Given the description of an element on the screen output the (x, y) to click on. 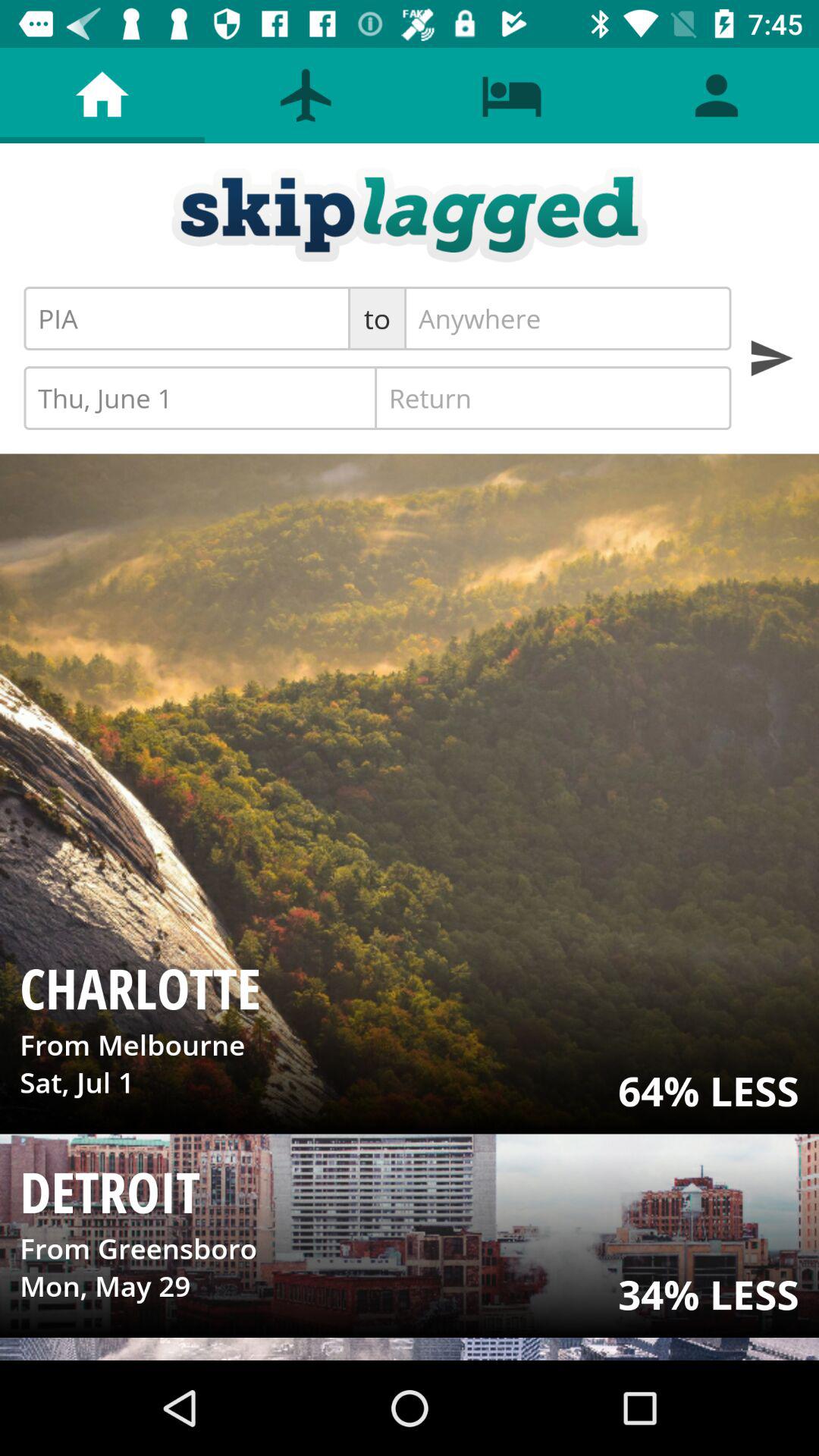
go to results (771, 358)
